Given the description of an element on the screen output the (x, y) to click on. 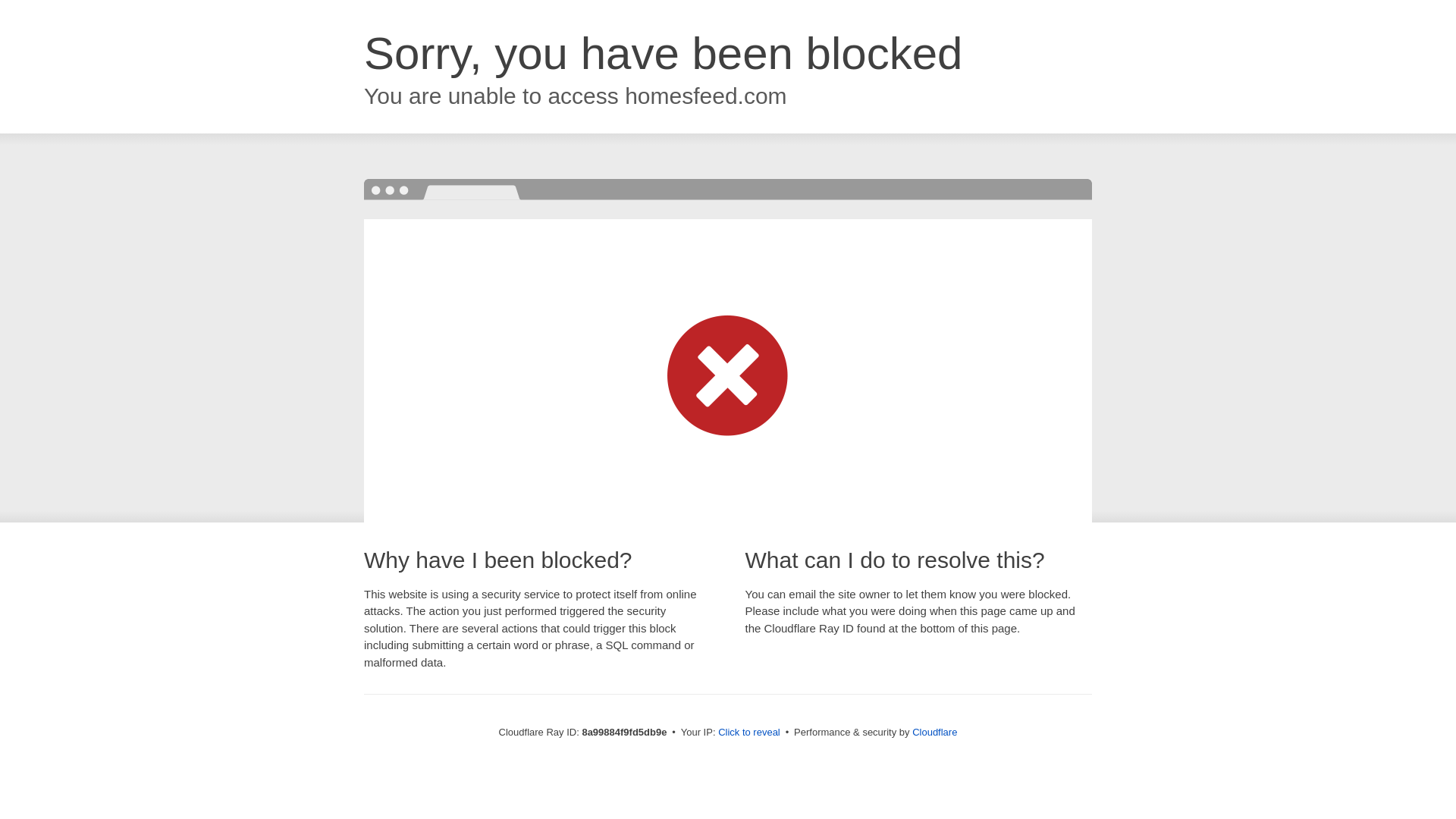
Cloudflare (934, 731)
Click to reveal (748, 732)
